Given the description of an element on the screen output the (x, y) to click on. 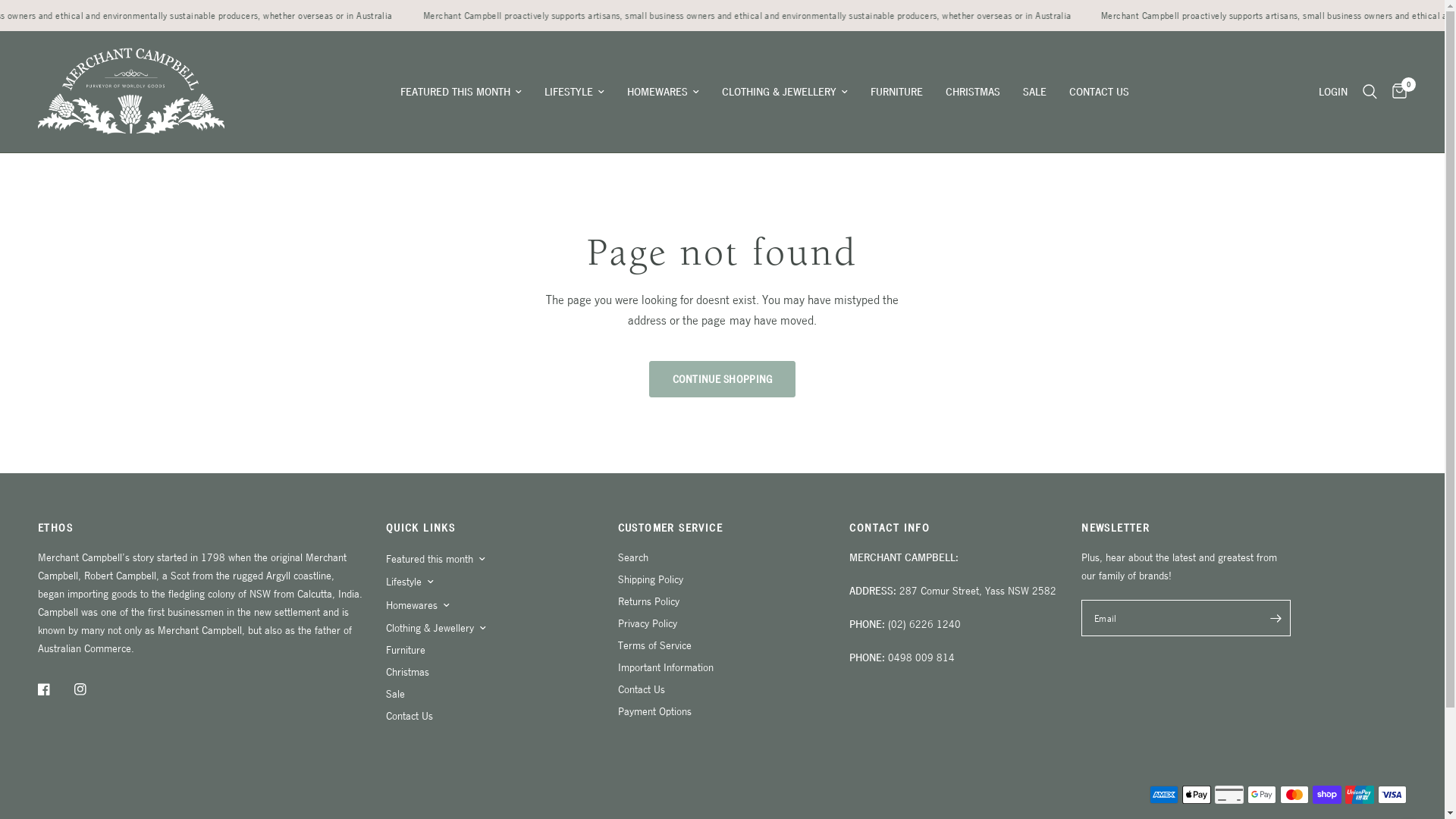
Christmas Element type: text (407, 671)
CONTACT US Element type: text (1099, 91)
FURNITURE Element type: text (896, 91)
(02) 6226 1240 Element type: text (924, 623)
CONTINUE SHOPPING Element type: text (722, 378)
xxx@xxx.xxx Element type: hover (1185, 617)
CHRISTMAS Element type: text (972, 91)
Terms of Service Element type: text (654, 644)
Returns Policy Element type: text (648, 600)
Search Element type: hover (1369, 91)
0 Element type: text (1395, 91)
CUSTOMER SERVICE Element type: text (722, 527)
Shipping Policy Element type: text (650, 578)
CLOTHING & JEWELLERY Element type: text (784, 91)
LOGIN Element type: text (1333, 91)
Search Element type: text (633, 556)
287 Comur Street, Yass NSW 2582 Element type: text (977, 589)
QUICK LINKS Element type: text (490, 527)
LIFESTYLE Element type: text (574, 91)
Important Information Element type: text (665, 666)
SALE Element type: text (1034, 91)
Sale Element type: text (394, 693)
Featured this month Element type: text (429, 558)
Contact Us Element type: text (641, 688)
Contact Us Element type: text (409, 715)
HOMEWARES Element type: text (663, 91)
Facebook Element type: hover (54, 689)
Clothing & Jewellery Element type: text (429, 627)
0498 009 814 Element type: text (921, 656)
Furniture Element type: text (405, 649)
Instagram Element type: hover (90, 689)
Homewares Element type: text (411, 605)
FEATURED THIS MONTH Element type: text (460, 91)
Payment Options Element type: text (654, 710)
Privacy Policy Element type: text (647, 622)
Lifestyle Element type: text (403, 581)
